Given the description of an element on the screen output the (x, y) to click on. 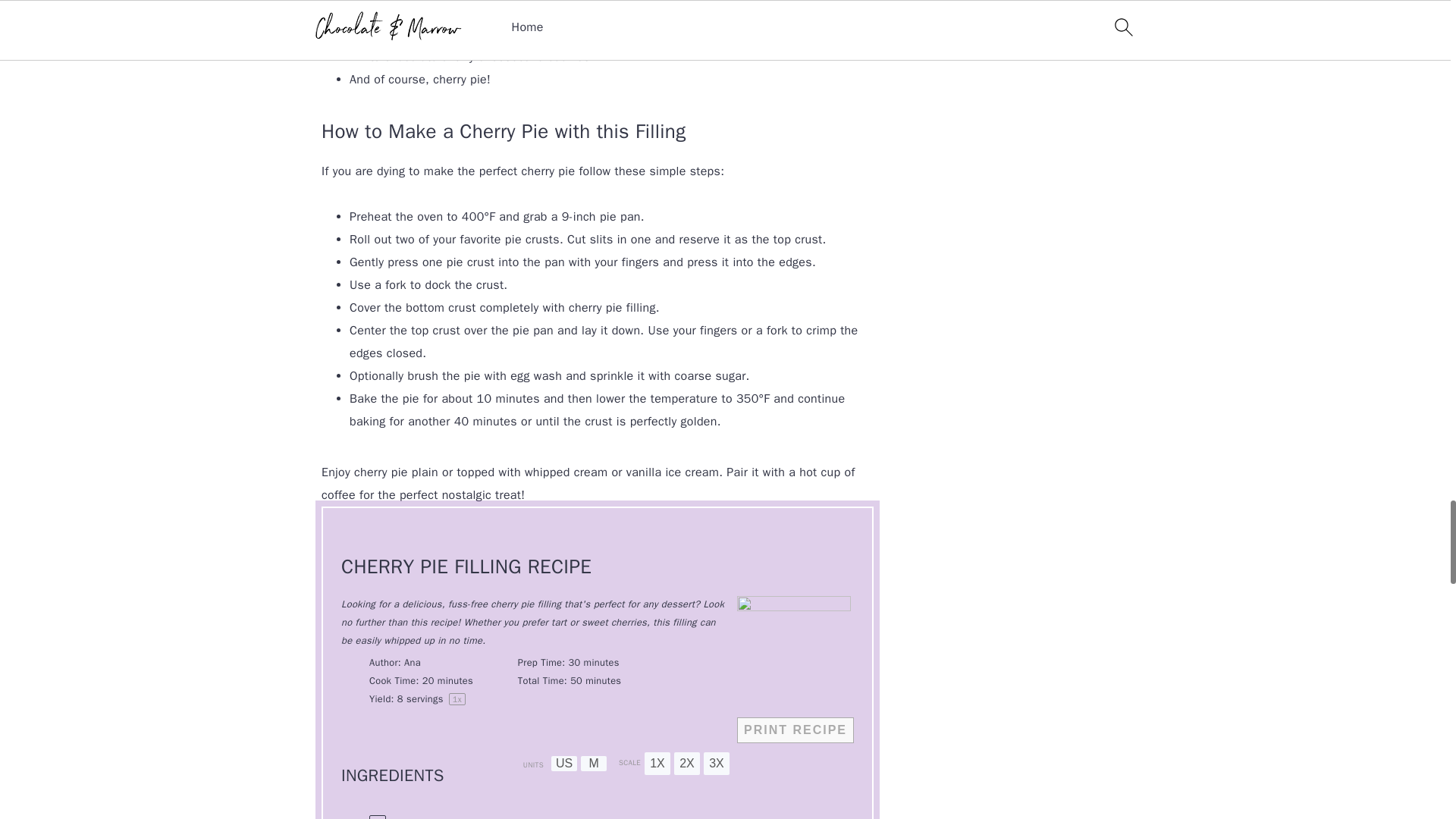
US (563, 763)
PRINT RECIPE (794, 729)
2X (687, 763)
1X (657, 763)
3X (716, 763)
M (593, 763)
